Given the description of an element on the screen output the (x, y) to click on. 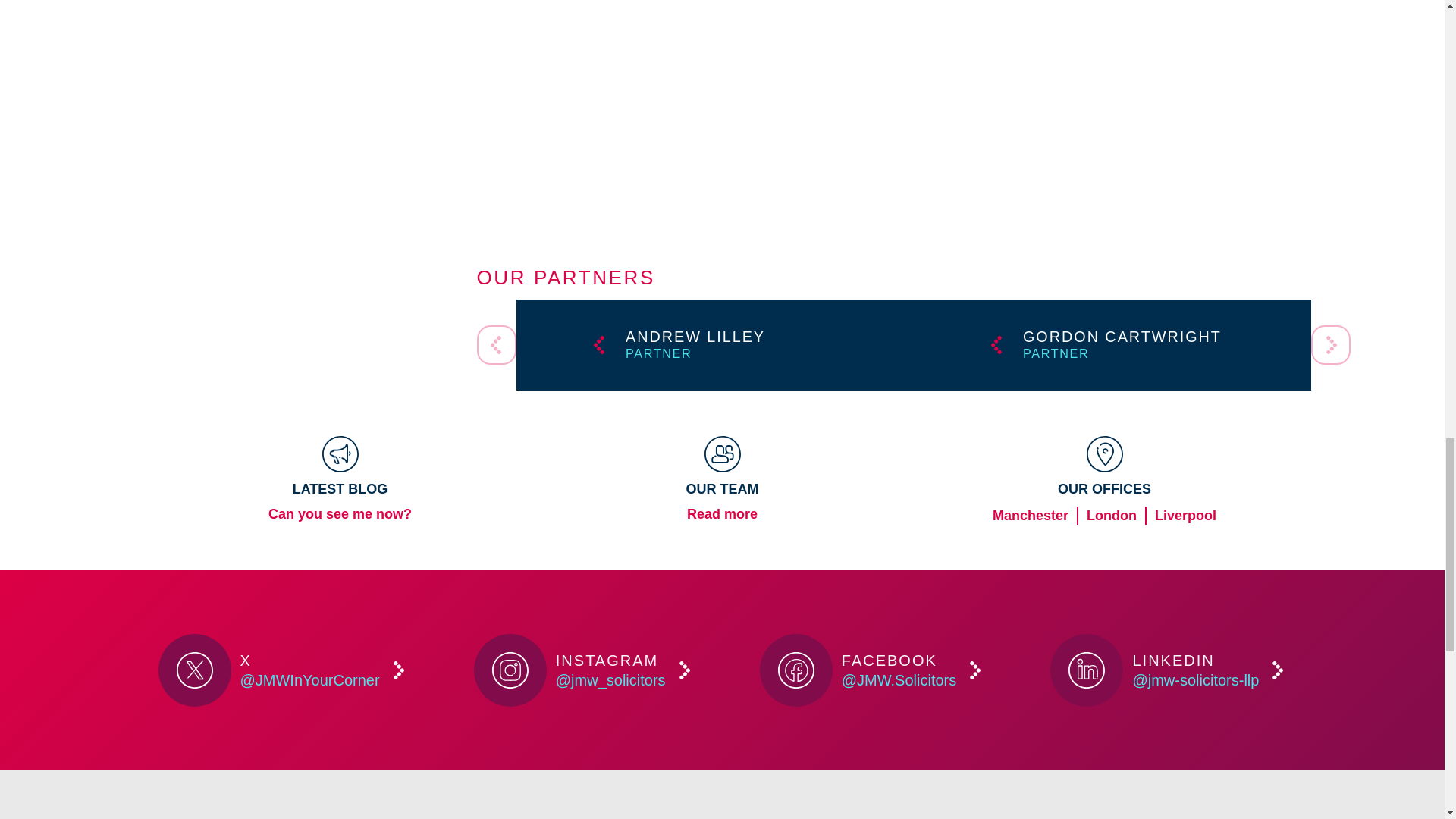
Can you see me now? (1111, 344)
